Given the description of an element on the screen output the (x, y) to click on. 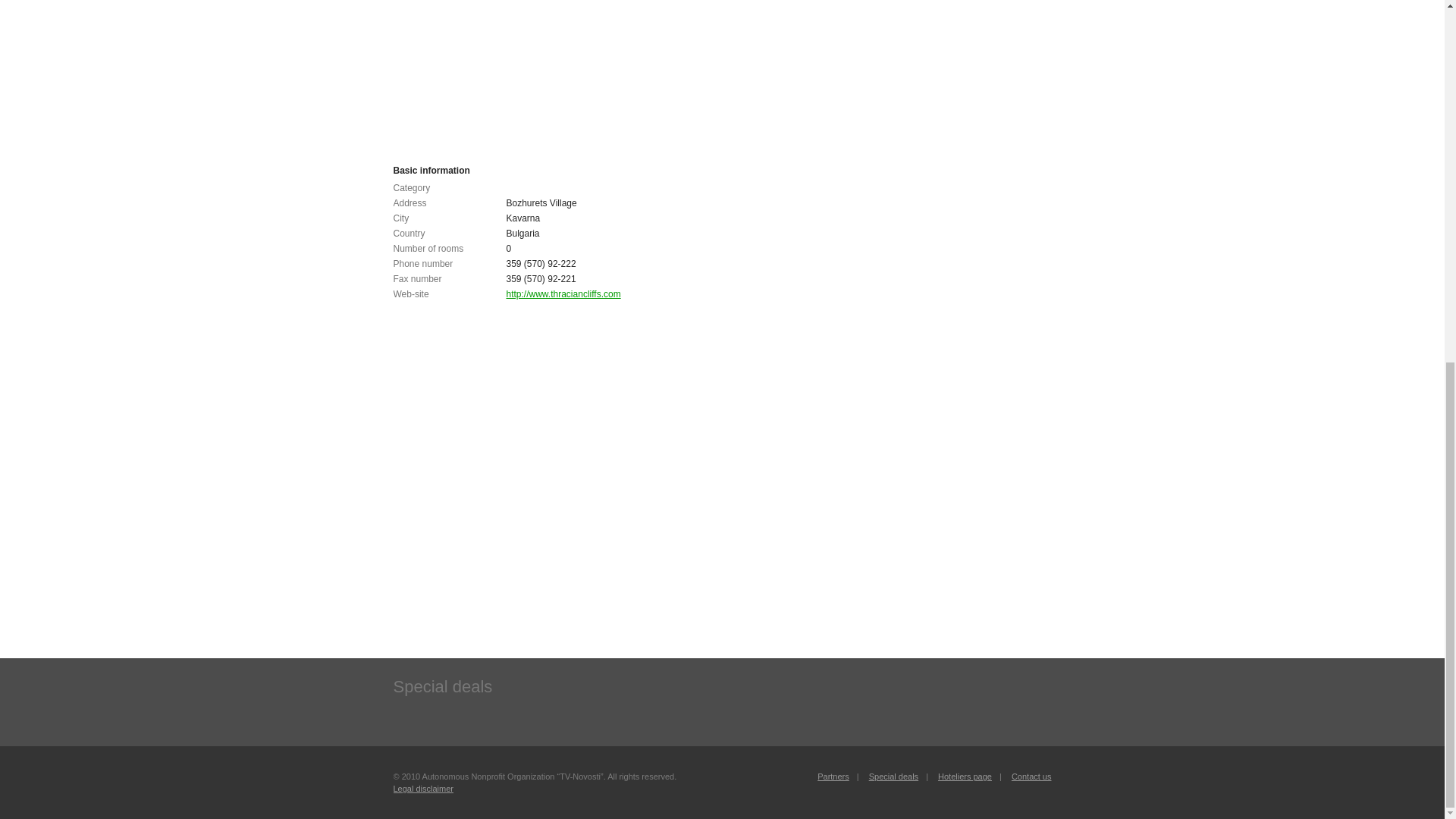
Hoteliers page (964, 776)
Partners (832, 776)
Contact us (1031, 776)
Special deals (893, 776)
Legal disclaimer (422, 788)
